Given the description of an element on the screen output the (x, y) to click on. 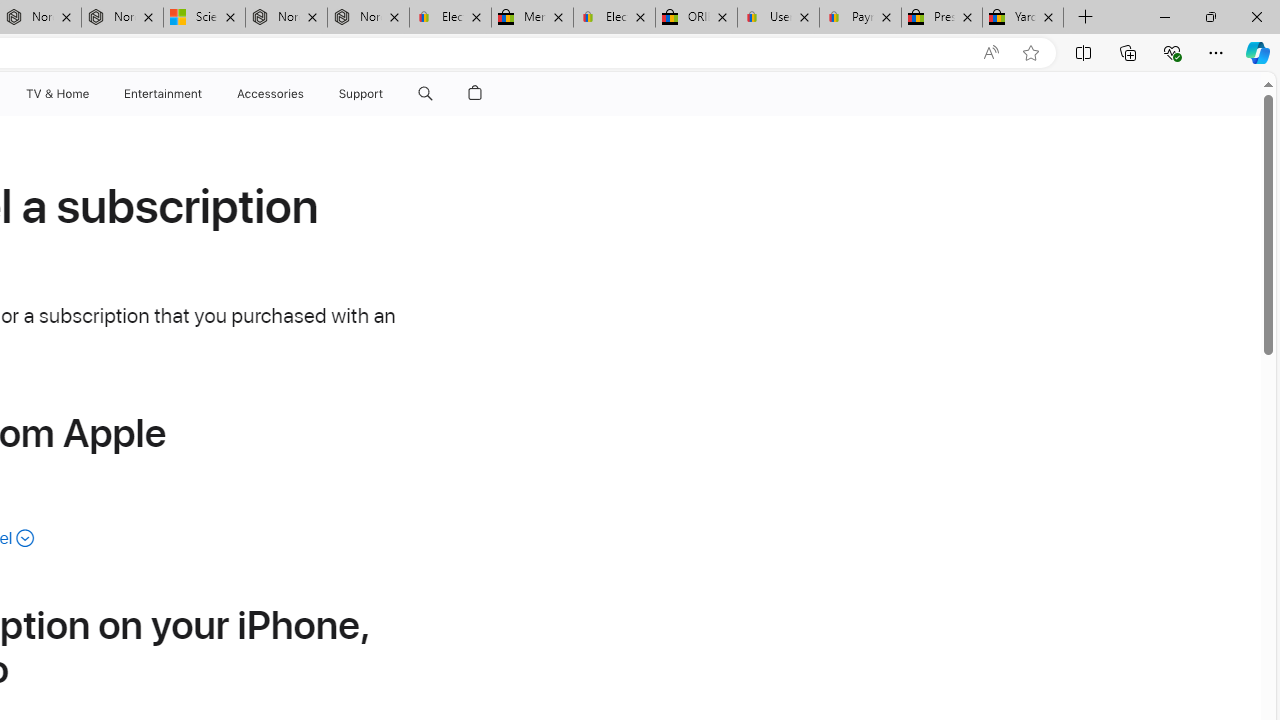
Support (361, 93)
Search Support (425, 93)
TV & Home (56, 93)
Accessories (269, 93)
